Given the description of an element on the screen output the (x, y) to click on. 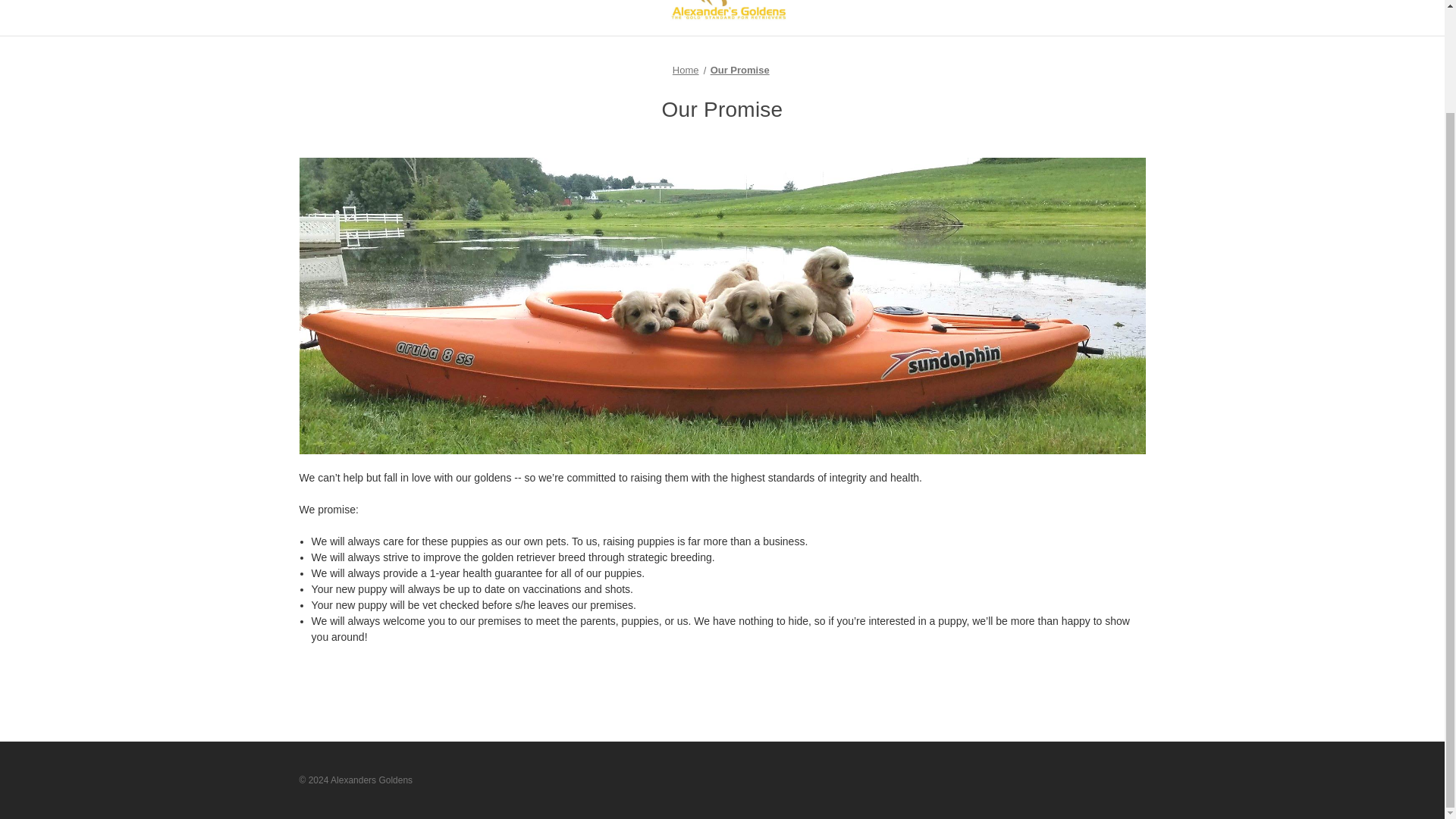
Our Promise (740, 70)
Home (685, 70)
